Given the description of an element on the screen output the (x, y) to click on. 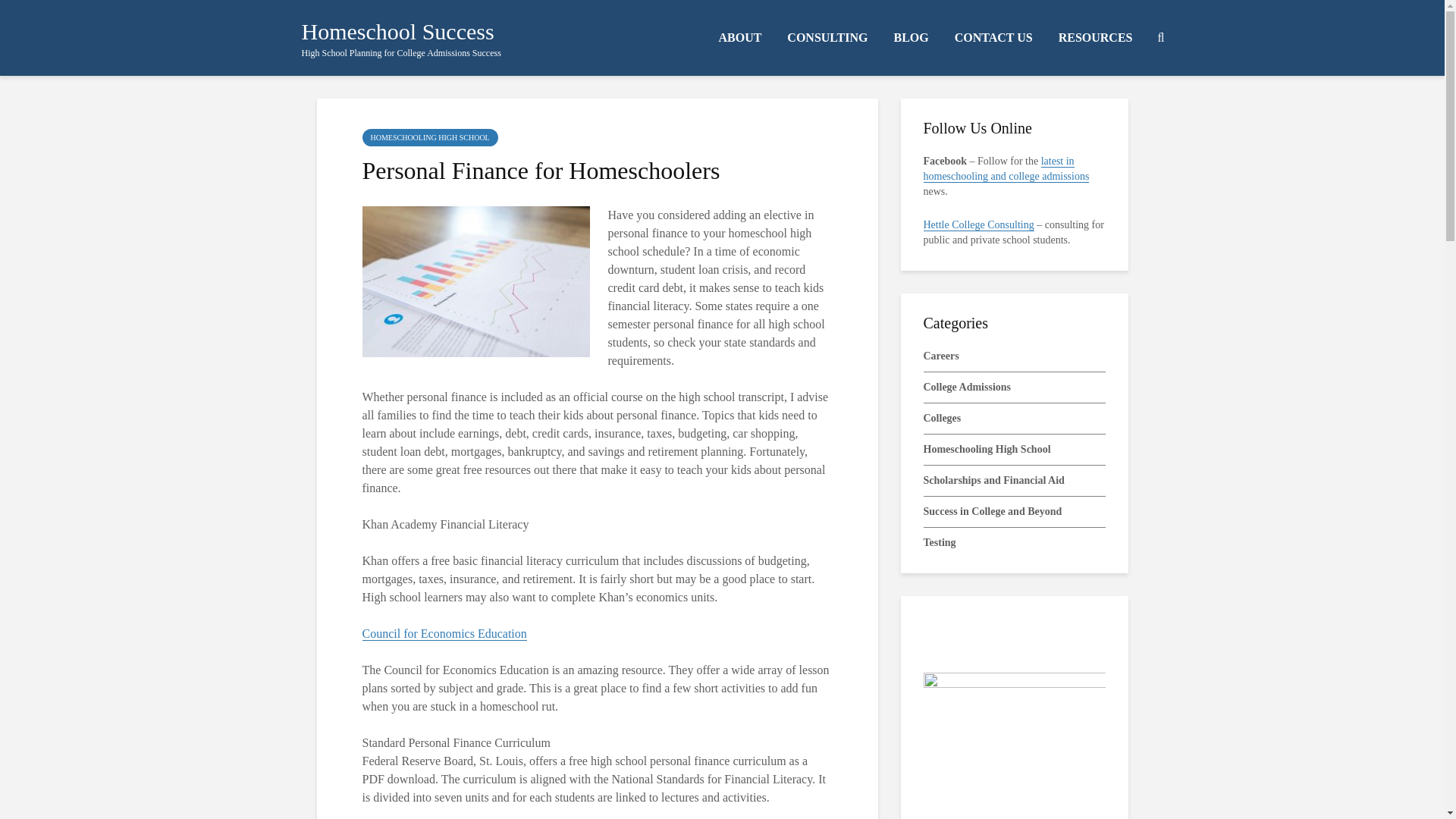
CONTACT US (993, 37)
Homeschool Success (398, 31)
CONSULTING (827, 37)
ABOUT (739, 37)
Economics Lesson Plans (444, 633)
BLOG (910, 37)
RESOURCES (1095, 37)
